Given the description of an element on the screen output the (x, y) to click on. 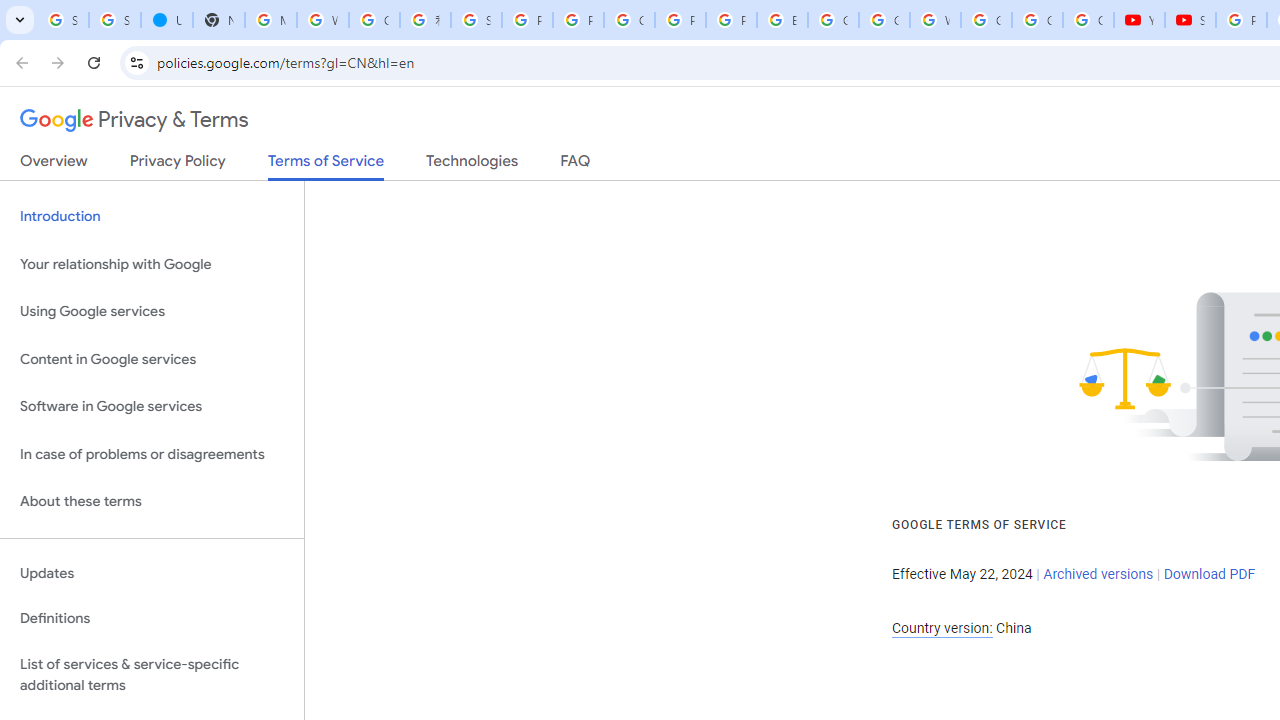
Your relationship with Google (152, 263)
Google Slides: Sign-in (832, 20)
Using Google services (152, 312)
YouTube (1138, 20)
Create your Google Account (629, 20)
About these terms (152, 502)
